Given the description of an element on the screen output the (x, y) to click on. 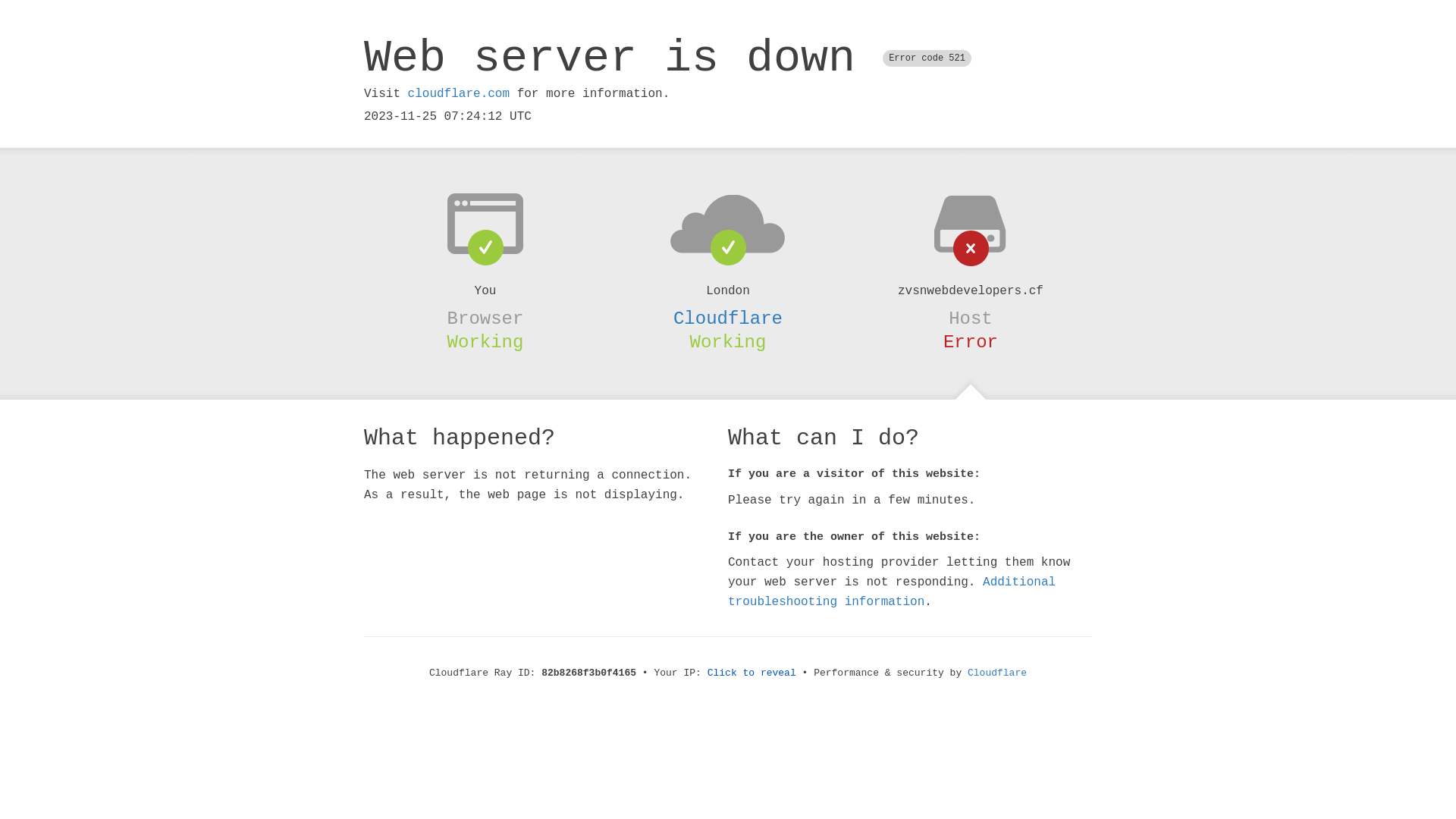
cloudflare.com Element type: text (458, 93)
Cloudflare Element type: text (727, 318)
Additional troubleshooting information Element type: text (891, 591)
Click to reveal Element type: text (751, 672)
Cloudflare Element type: text (996, 672)
